Given the description of an element on the screen output the (x, y) to click on. 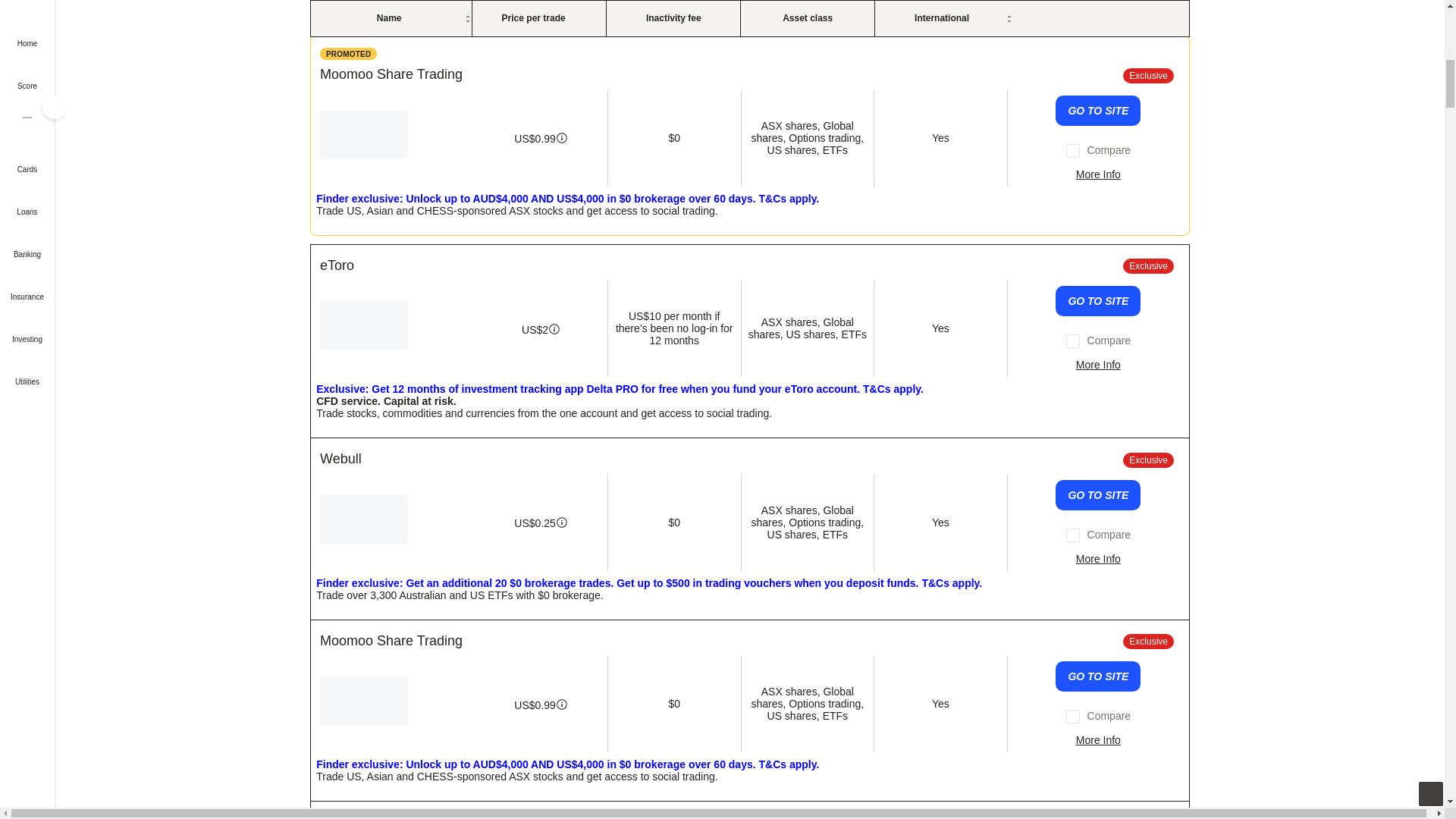
Read More About The Moomoo Share Trading (1097, 174)
Important information about this website (348, 53)
Apply Now For The Moomoo Share Trading (1097, 110)
Apply Now For The eToro (1097, 300)
Read More About The eToro (1097, 364)
Apply Now For The Webull (1097, 494)
